Given the description of an element on the screen output the (x, y) to click on. 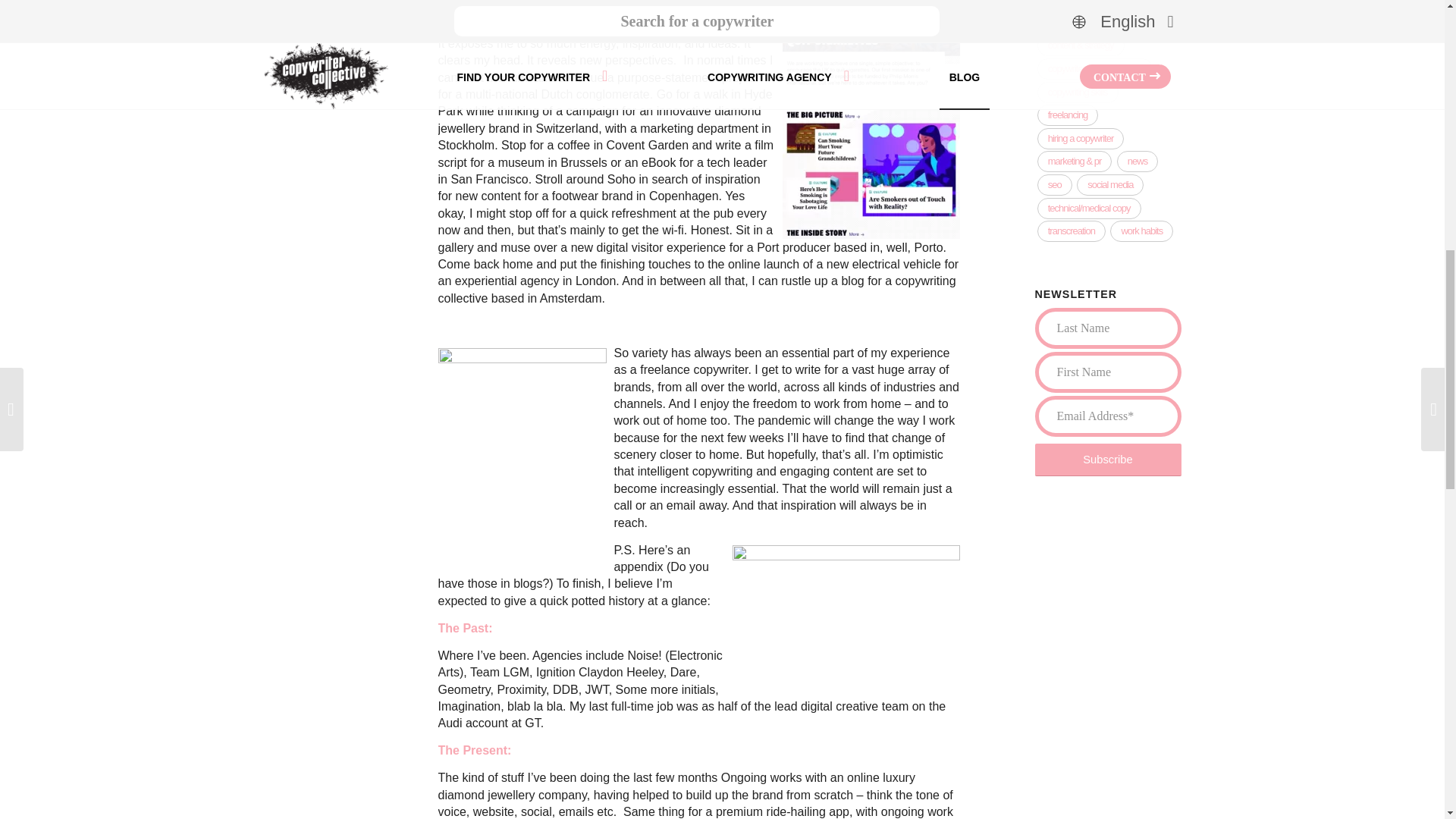
Subscribe (1106, 459)
advertising (1066, 4)
